Given the description of an element on the screen output the (x, y) to click on. 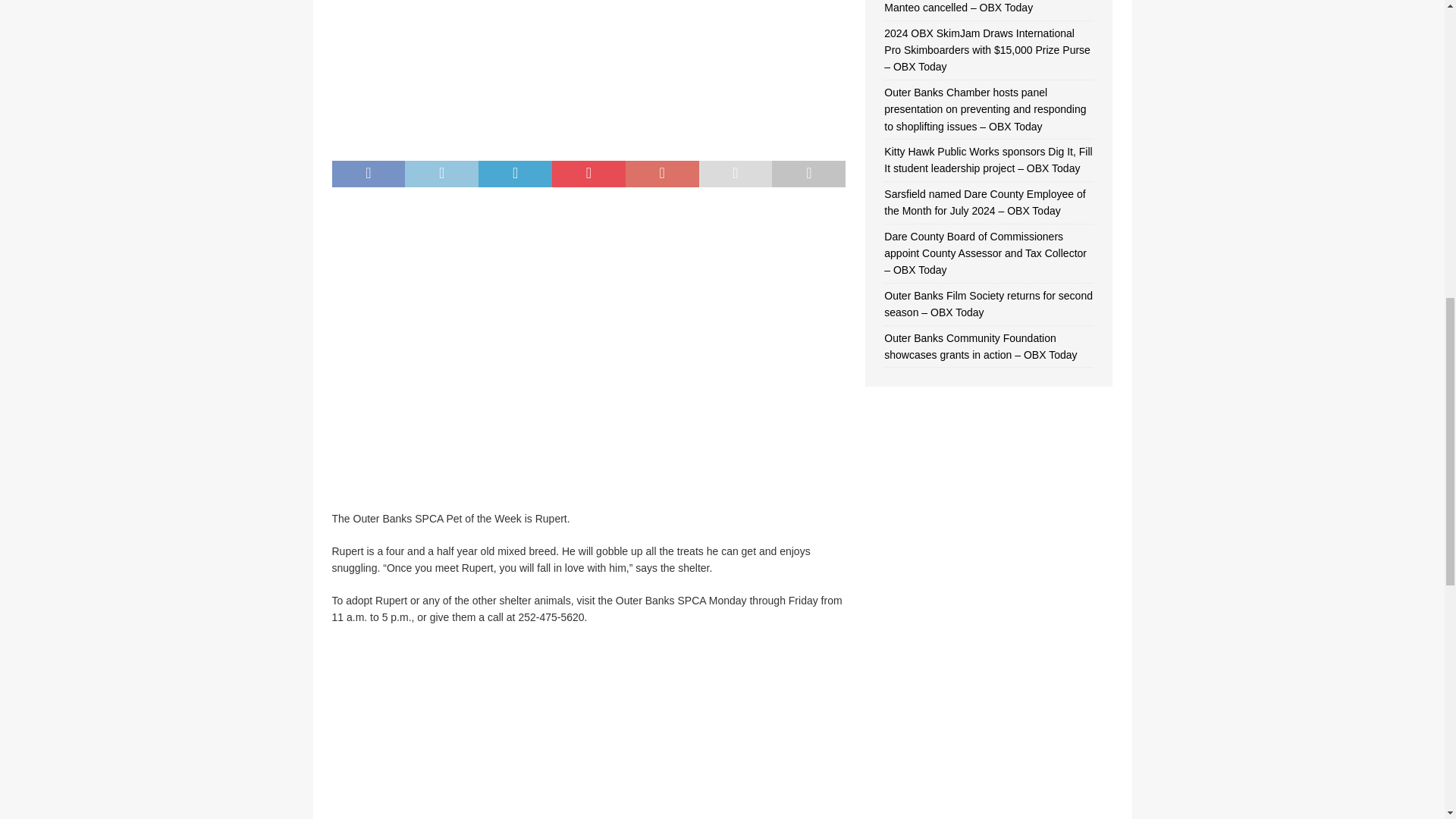
OBX SPCA Pet of the Week - Rupert! (588, 729)
Rupert Youtube Thumnail (588, 486)
Outer Banks SPCA Pets of the Week: Rupert - OBX Today (588, 136)
